Given the description of an element on the screen output the (x, y) to click on. 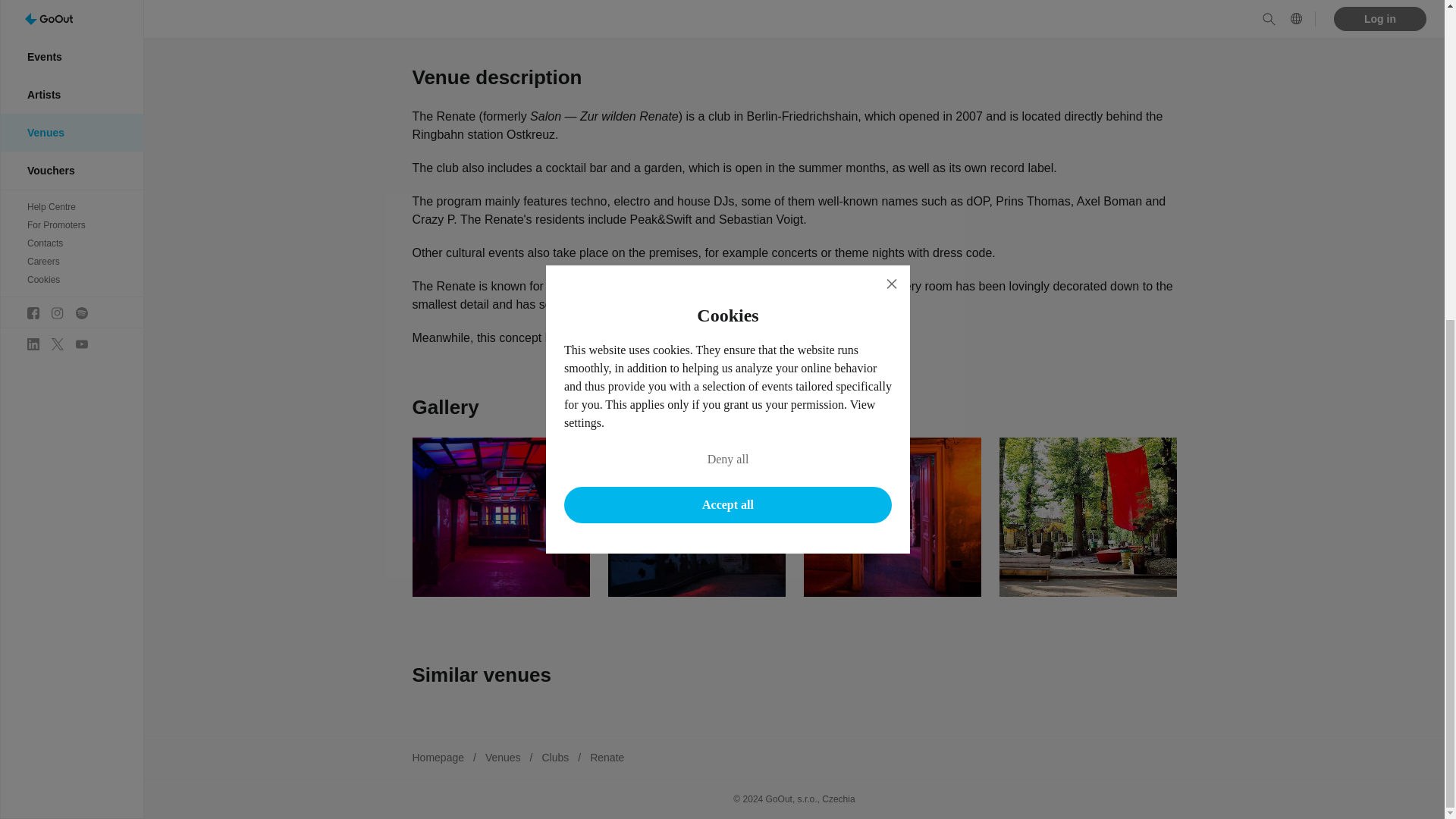
Renate (606, 757)
Homepage (438, 757)
Clubs (555, 757)
Venues (502, 757)
